Given the description of an element on the screen output the (x, y) to click on. 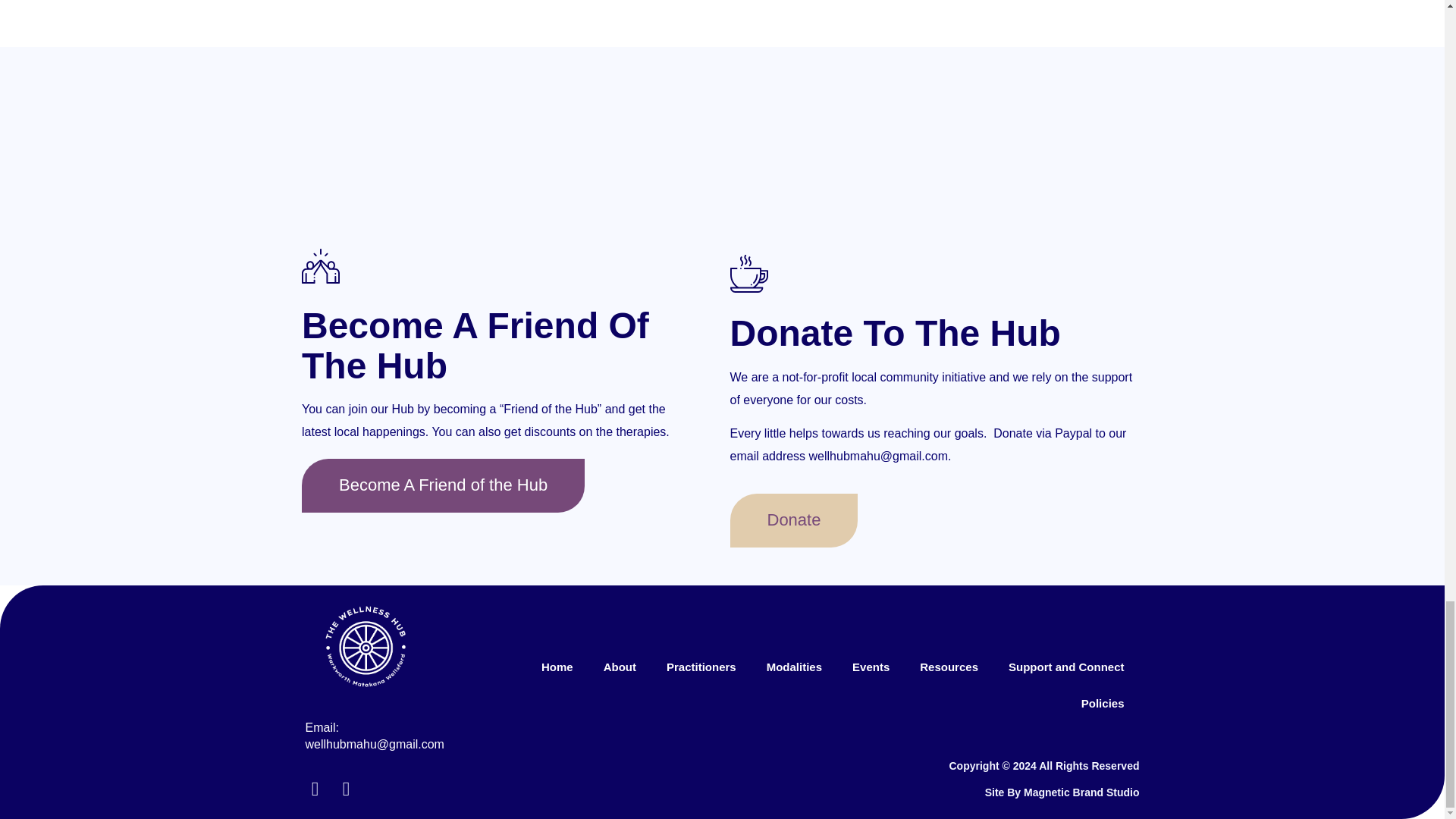
Home (556, 667)
Events (870, 667)
Practitioners (700, 667)
About (619, 667)
Become A Friend of the Hub (443, 484)
Donate (793, 520)
Resources (948, 667)
Support and Connect (1066, 667)
Modalities (794, 667)
